Given the description of an element on the screen output the (x, y) to click on. 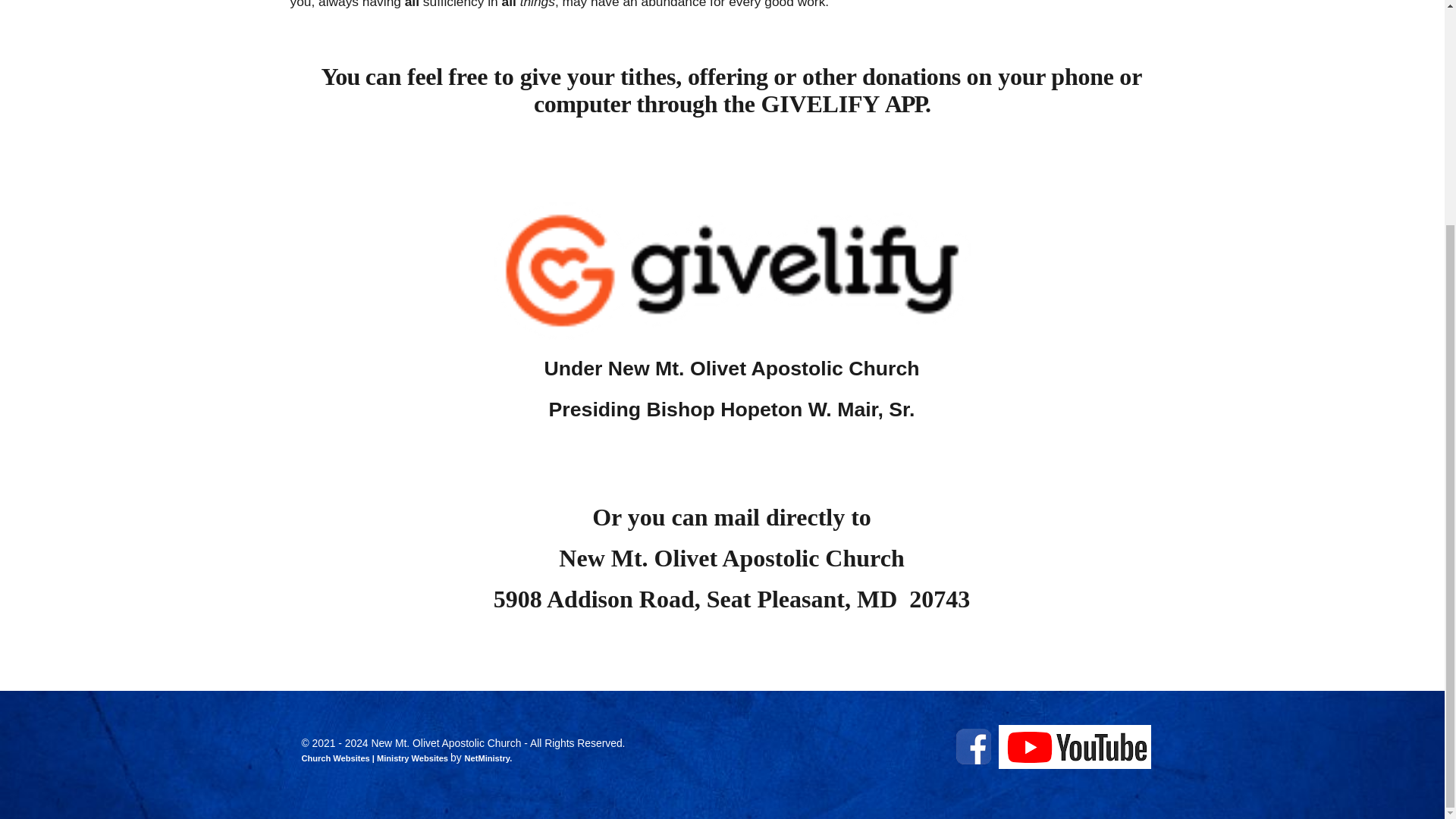
YouTube (1073, 746)
NetMinistry (487, 757)
Facebook (973, 746)
